Given the description of an element on the screen output the (x, y) to click on. 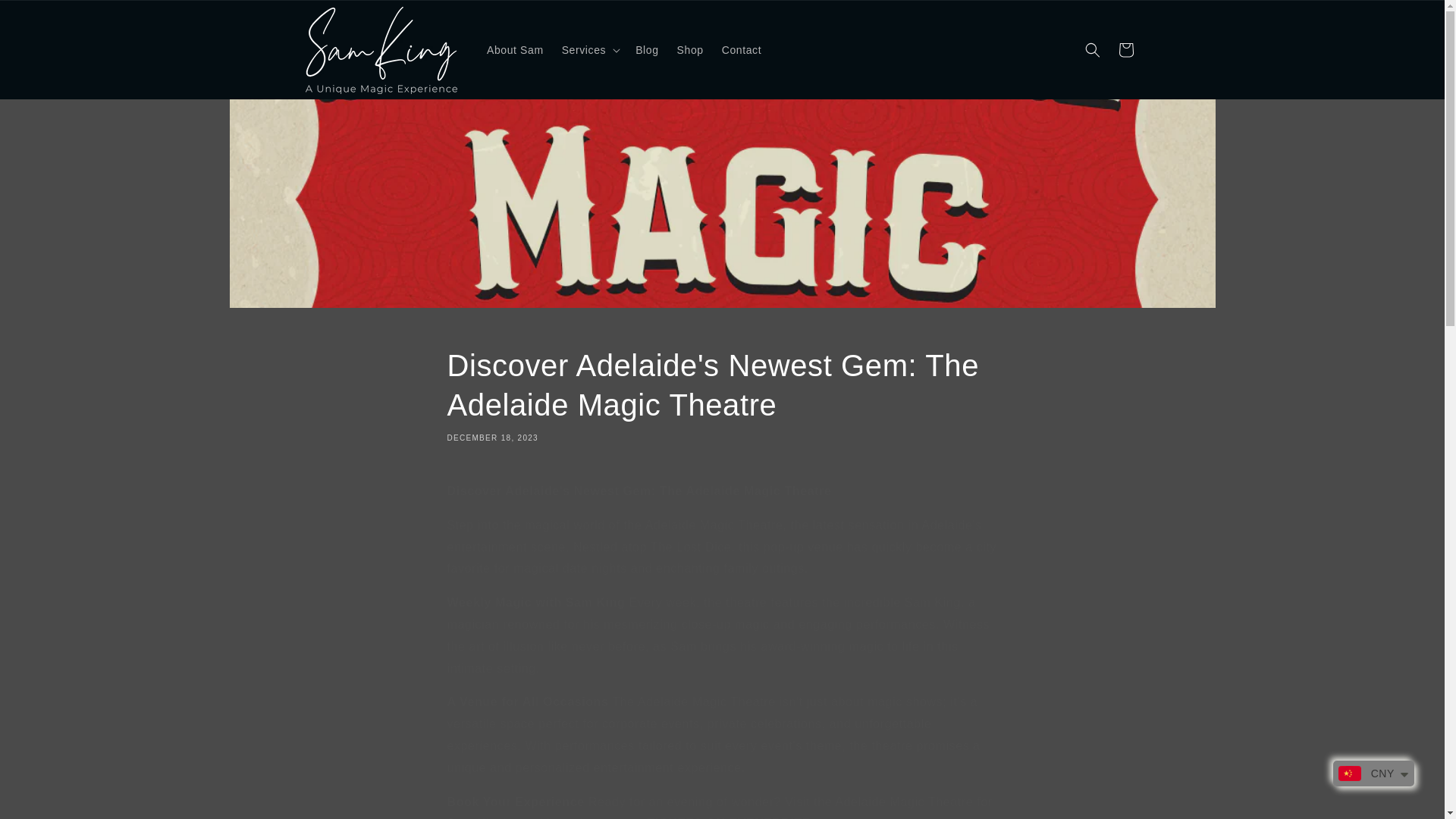
Blog (646, 50)
Shop (690, 50)
Contact (741, 50)
About Sam (515, 50)
TICKETS ON EVENTBRITE (728, 817)
Skip to content (45, 17)
Cart (1124, 49)
